Given the description of an element on the screen output the (x, y) to click on. 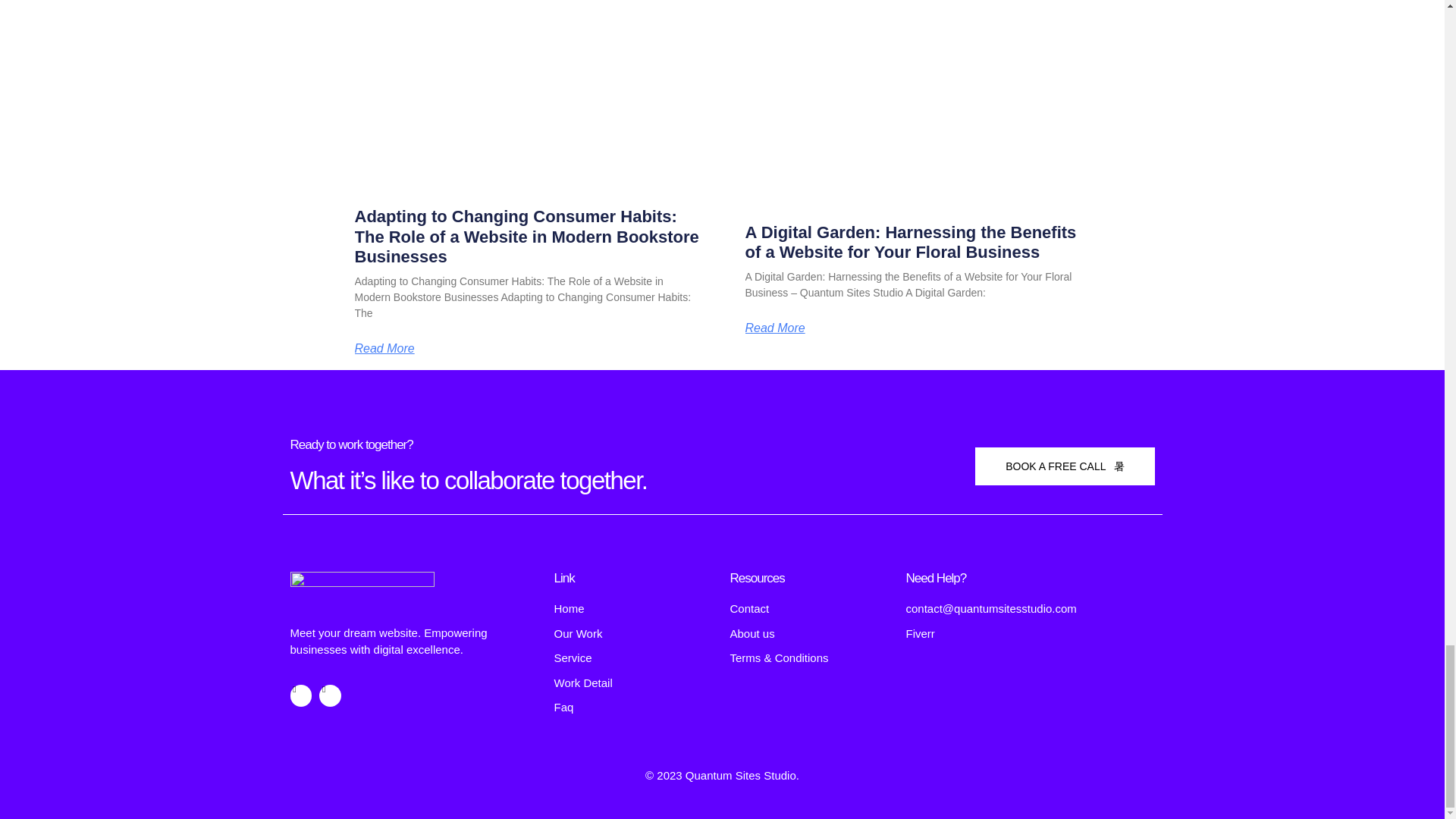
About us (809, 633)
Faq (633, 707)
Home (633, 609)
Service (633, 658)
Read More (774, 328)
Read More (384, 348)
BOOK A FREE CALL (1064, 466)
Work Detail (633, 683)
